Given the description of an element on the screen output the (x, y) to click on. 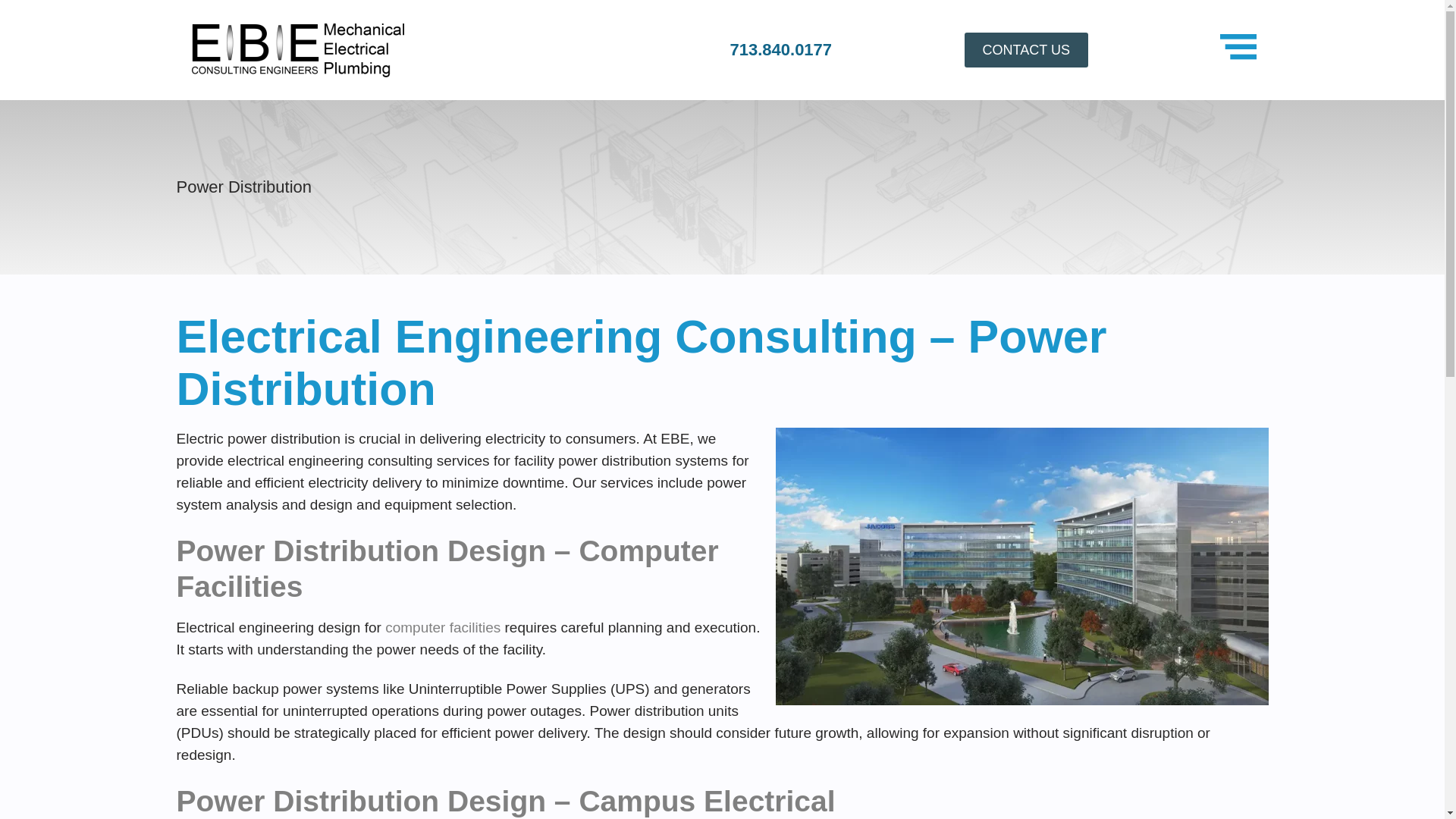
computer facilities (442, 627)
CONTACT US (1025, 49)
713.840.0177 (780, 49)
